Given the description of an element on the screen output the (x, y) to click on. 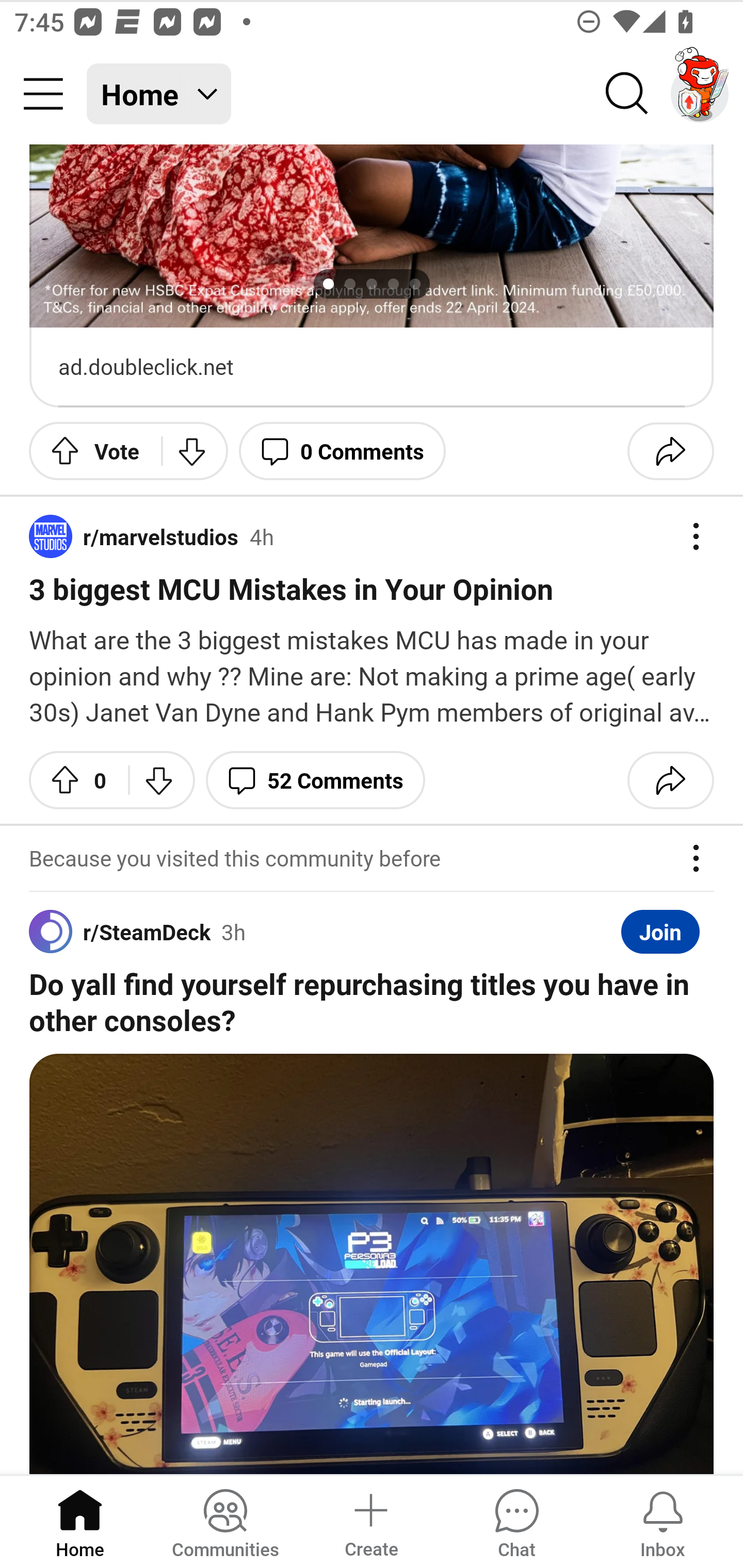
Community menu (43, 93)
Home Home feed (158, 93)
Search (626, 93)
TestAppium002 account (699, 93)
Image 1 of 5 (371, 235)
Home (80, 1520)
Communities (225, 1520)
Create a post Create (370, 1520)
Chat (516, 1520)
Inbox (662, 1520)
